Given the description of an element on the screen output the (x, y) to click on. 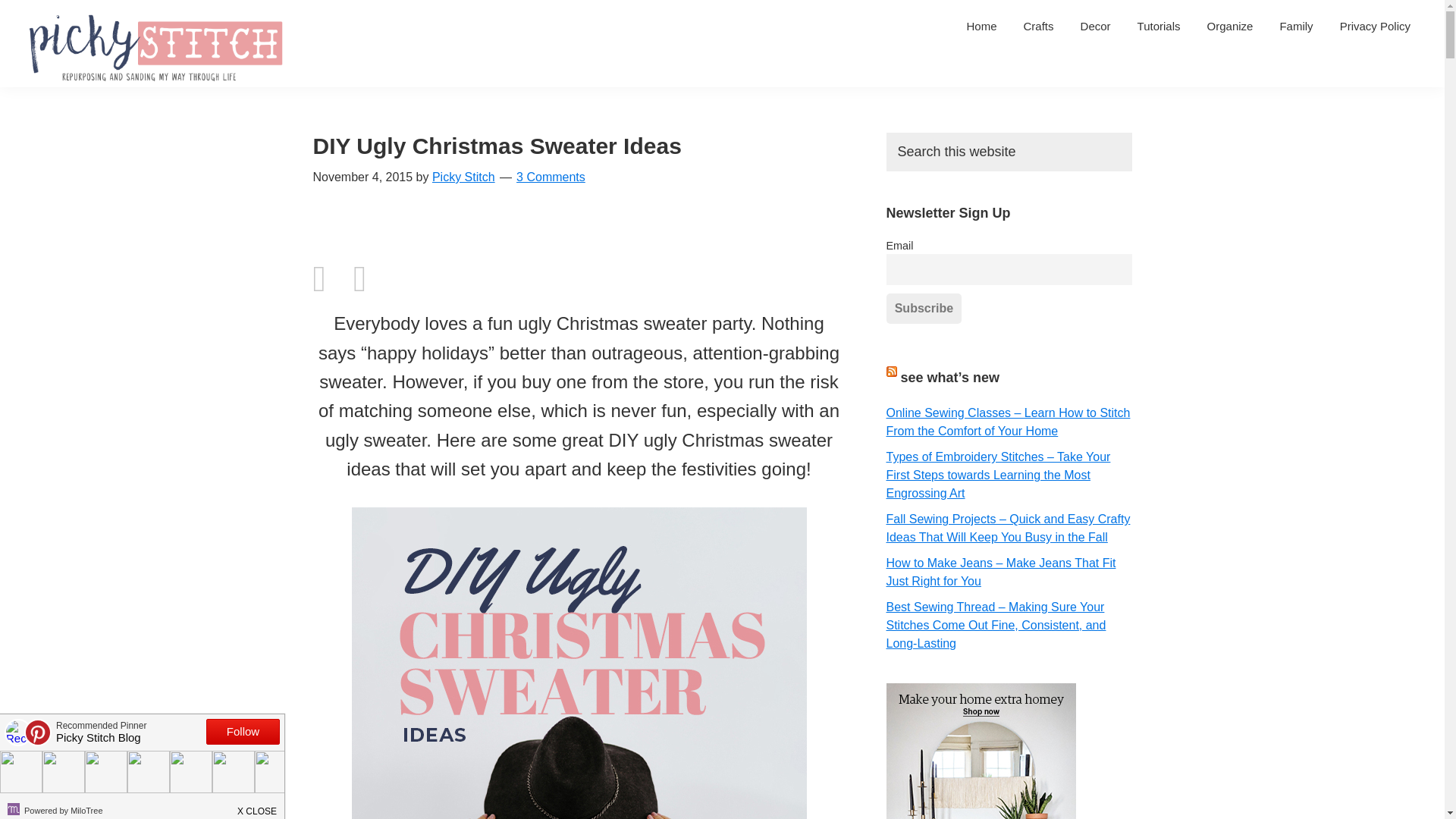
Privacy Policy (1374, 25)
3 Comments (550, 176)
Organize (1230, 25)
Tutorials (1158, 25)
Family (1295, 25)
Crafts (1038, 25)
Subscribe (922, 308)
Picky Stitch (463, 176)
Decor (1095, 25)
Home (981, 25)
